Given the description of an element on the screen output the (x, y) to click on. 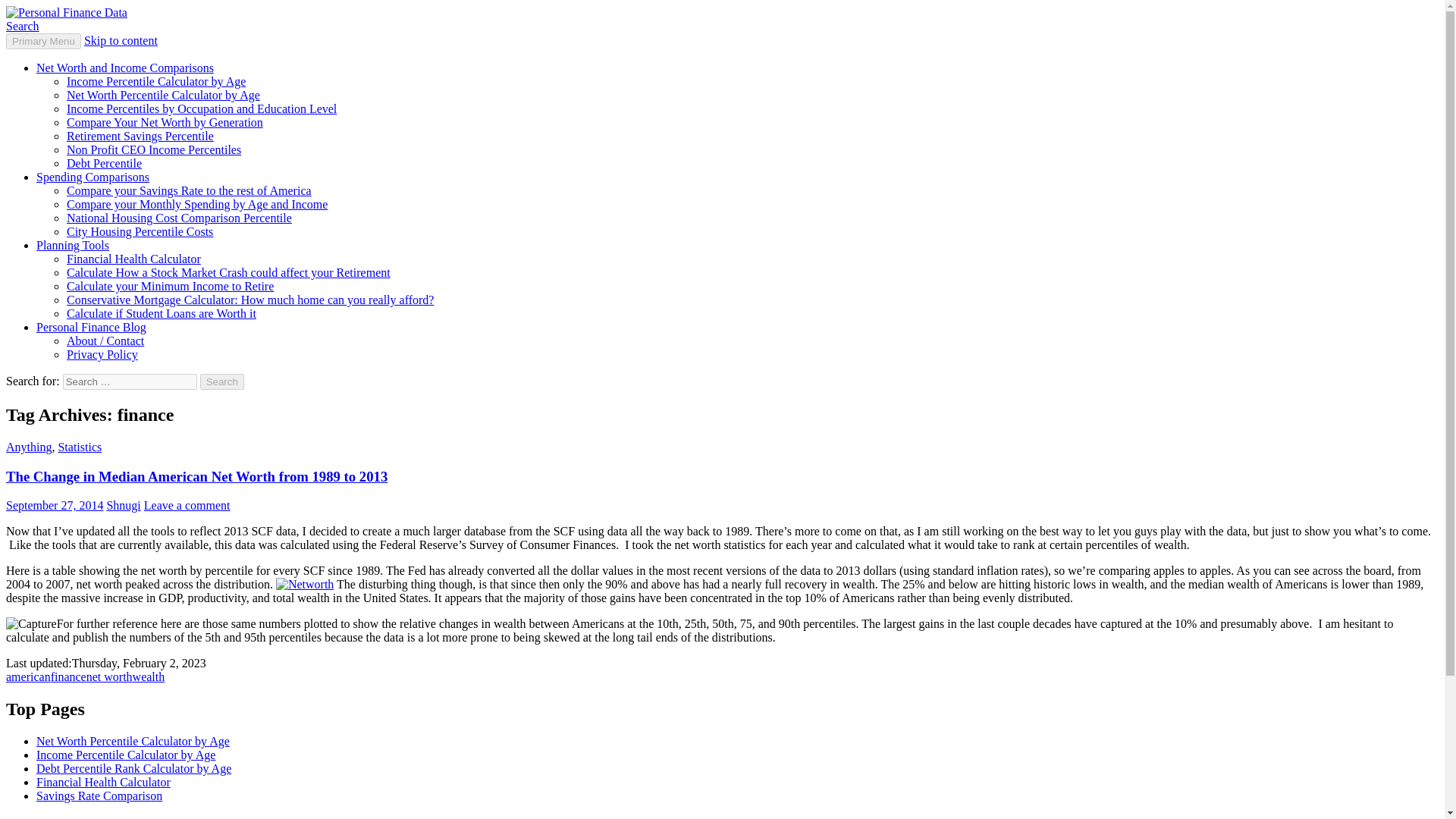
finance (67, 676)
Search (22, 25)
Net Worth and Income Comparisons (125, 67)
american (27, 676)
Compare Your Net Worth by Generation (164, 122)
Search (222, 381)
Privacy Policy (102, 354)
Shnugi (122, 504)
Non Profit CEO Income Percentiles (153, 149)
The Change in Median American Net Worth from 1989 to 2013 (196, 476)
Skip to content (120, 40)
Income Percentile Calculator by Age (125, 754)
Financial Health Calculator (133, 258)
Calculate if Student Loans are Worth it (161, 313)
